Given the description of an element on the screen output the (x, y) to click on. 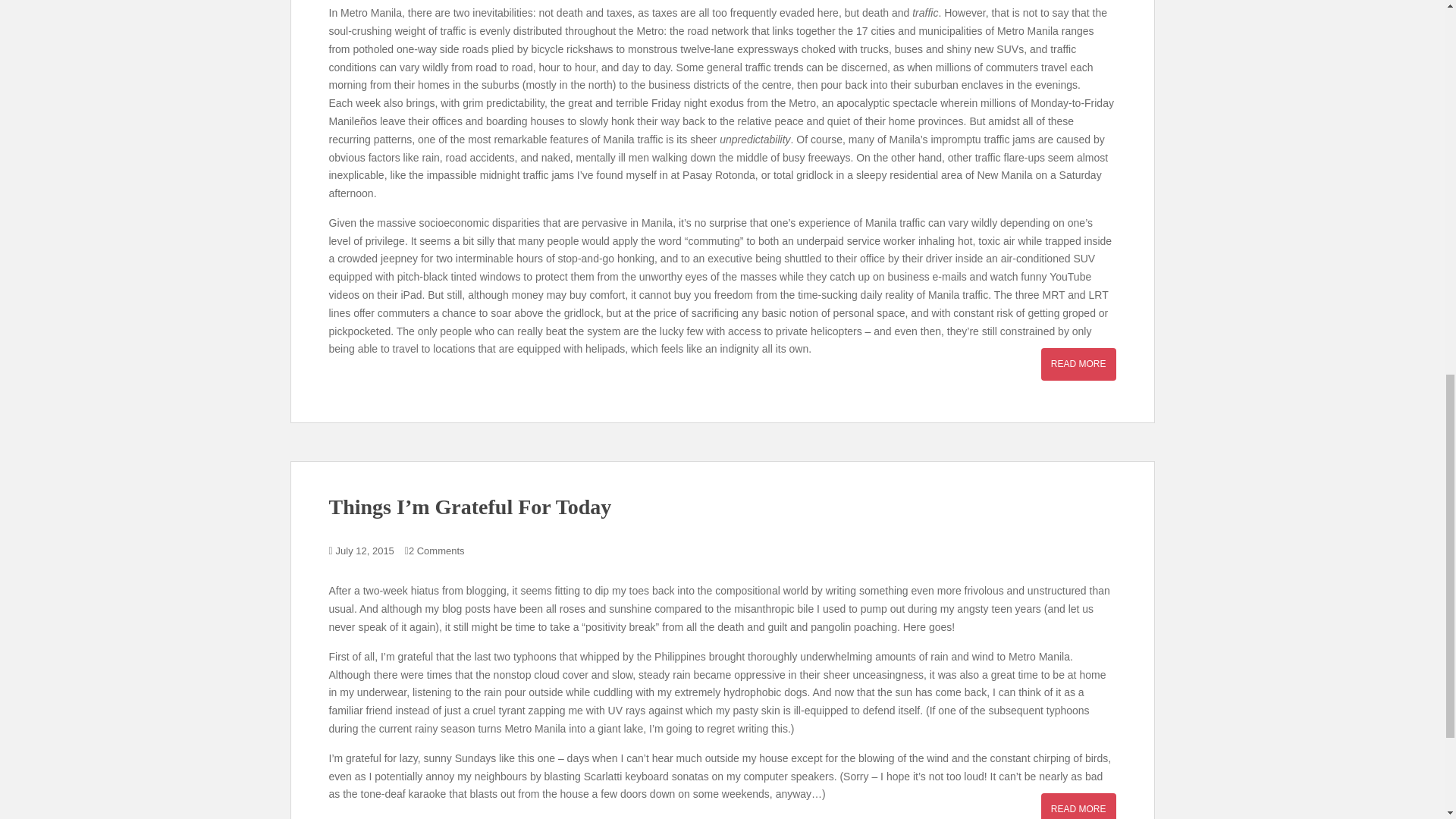
READ MORE (1078, 364)
2 Comments (436, 550)
READ MORE (1078, 806)
July 12, 2015 (365, 550)
